Given the description of an element on the screen output the (x, y) to click on. 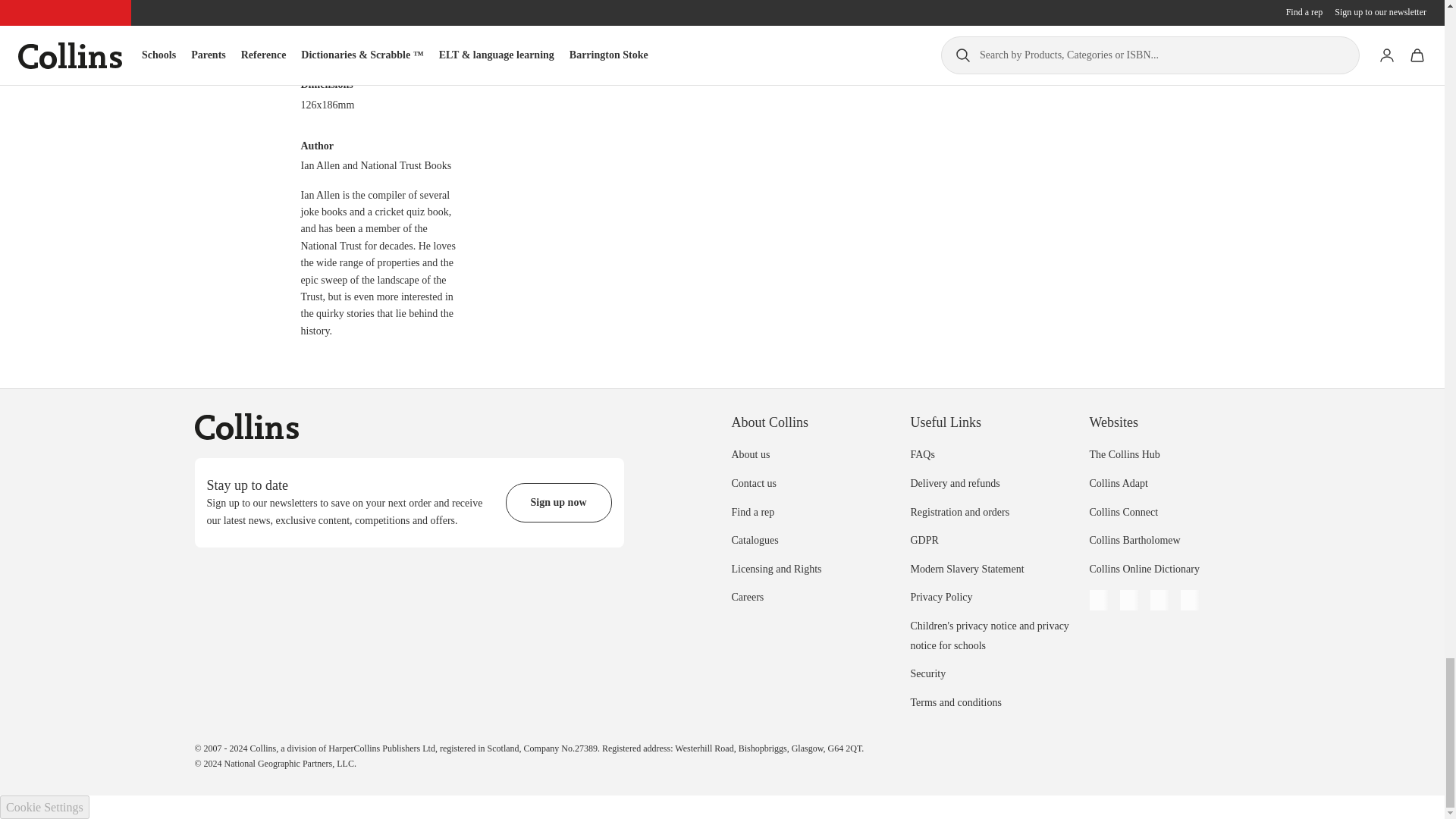
FAQs (922, 454)
Contact us (753, 482)
Security (927, 673)
Registration and orders (959, 511)
GDPR (923, 540)
Delivery and refunds (954, 482)
Modern Slavery Statement (966, 568)
Careers (746, 596)
Privacy Policy (941, 596)
About us (750, 454)
